Given the description of an element on the screen output the (x, y) to click on. 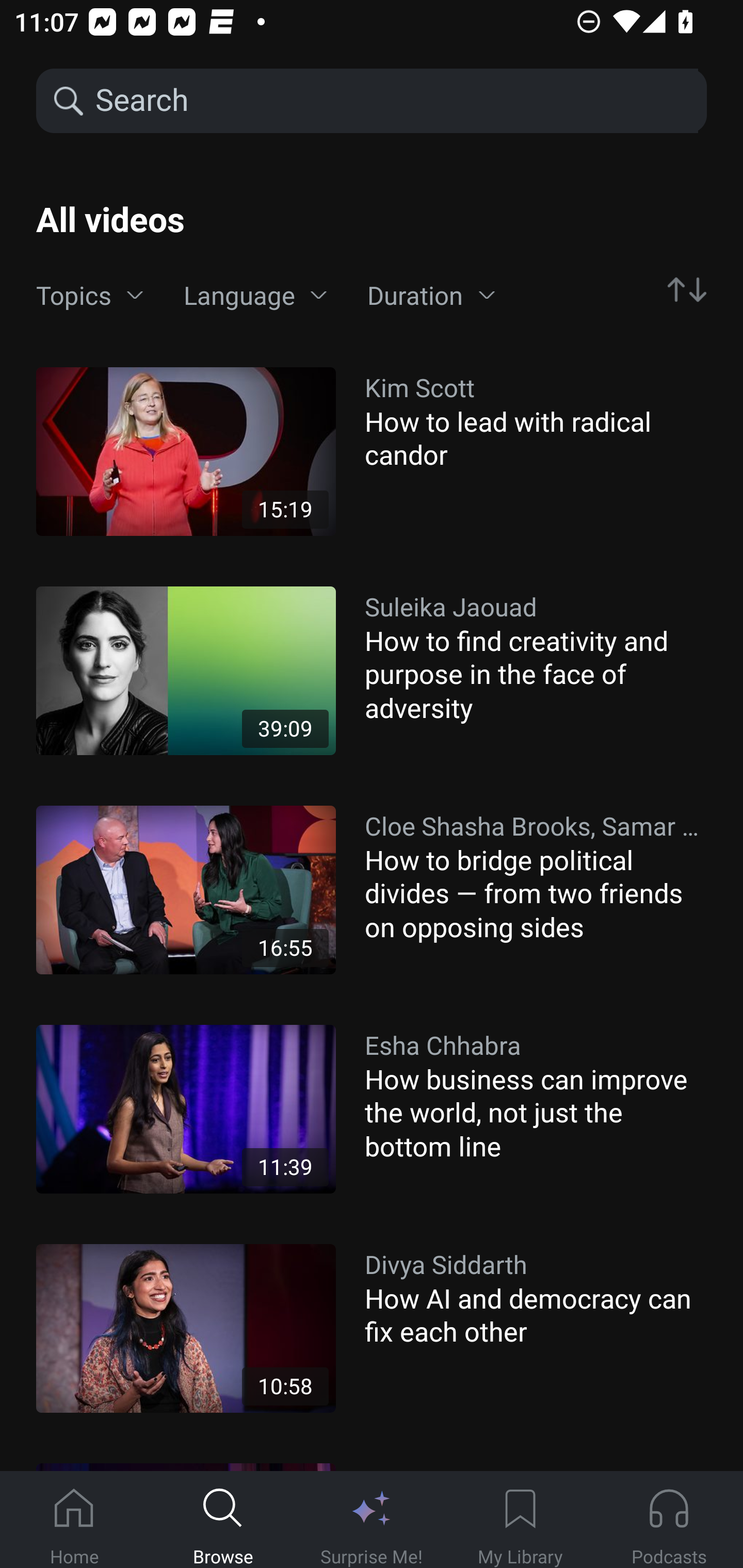
Search (395, 100)
Topics (90, 295)
Language (255, 295)
Duration (431, 295)
15:19 Kim Scott How to lead with radical candor (371, 451)
Home (74, 1520)
Browse (222, 1520)
Surprise Me! (371, 1520)
My Library (519, 1520)
Podcasts (668, 1520)
